Given the description of an element on the screen output the (x, y) to click on. 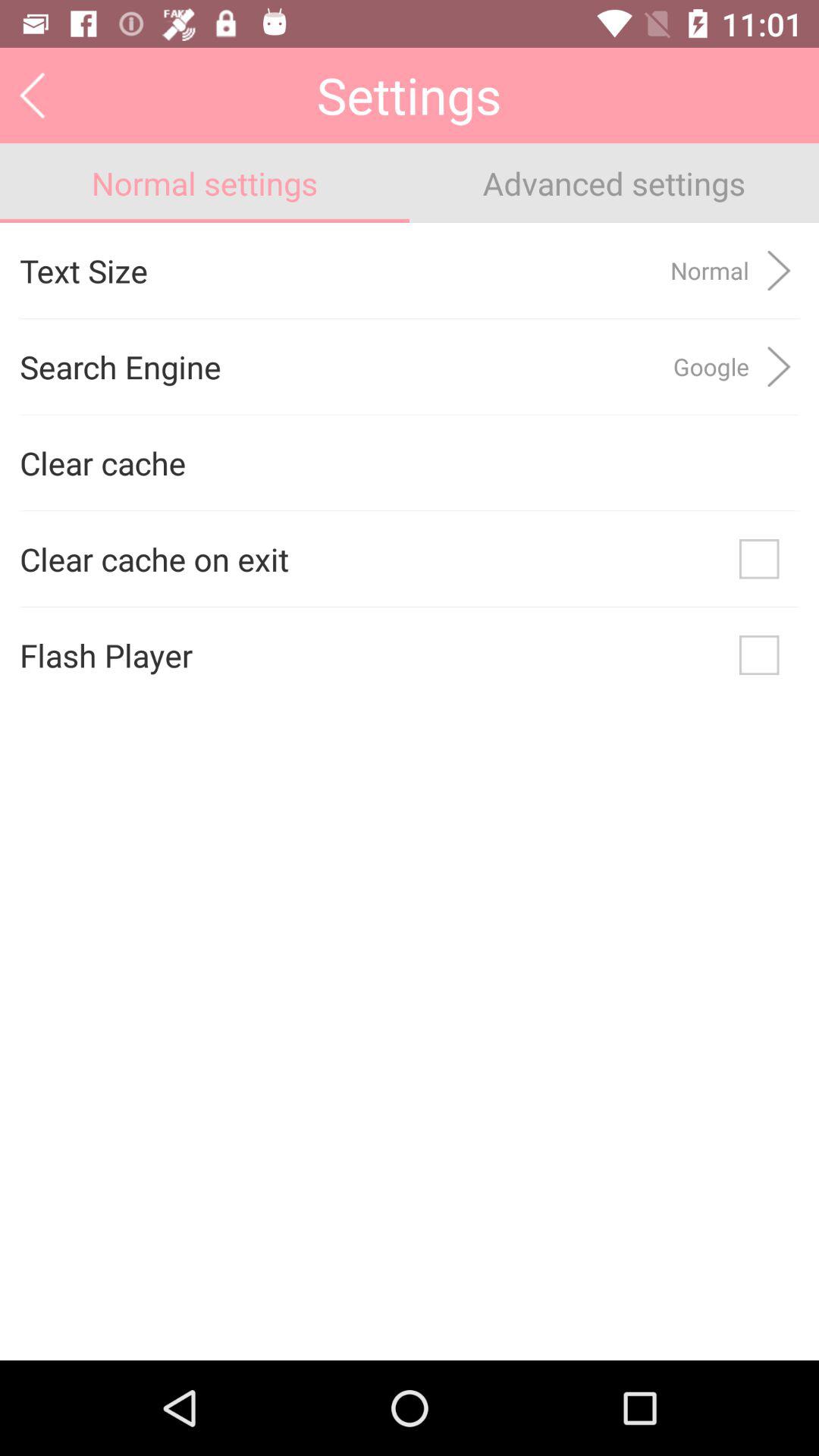
check and activate the flash player (759, 655)
